Given the description of an element on the screen output the (x, y) to click on. 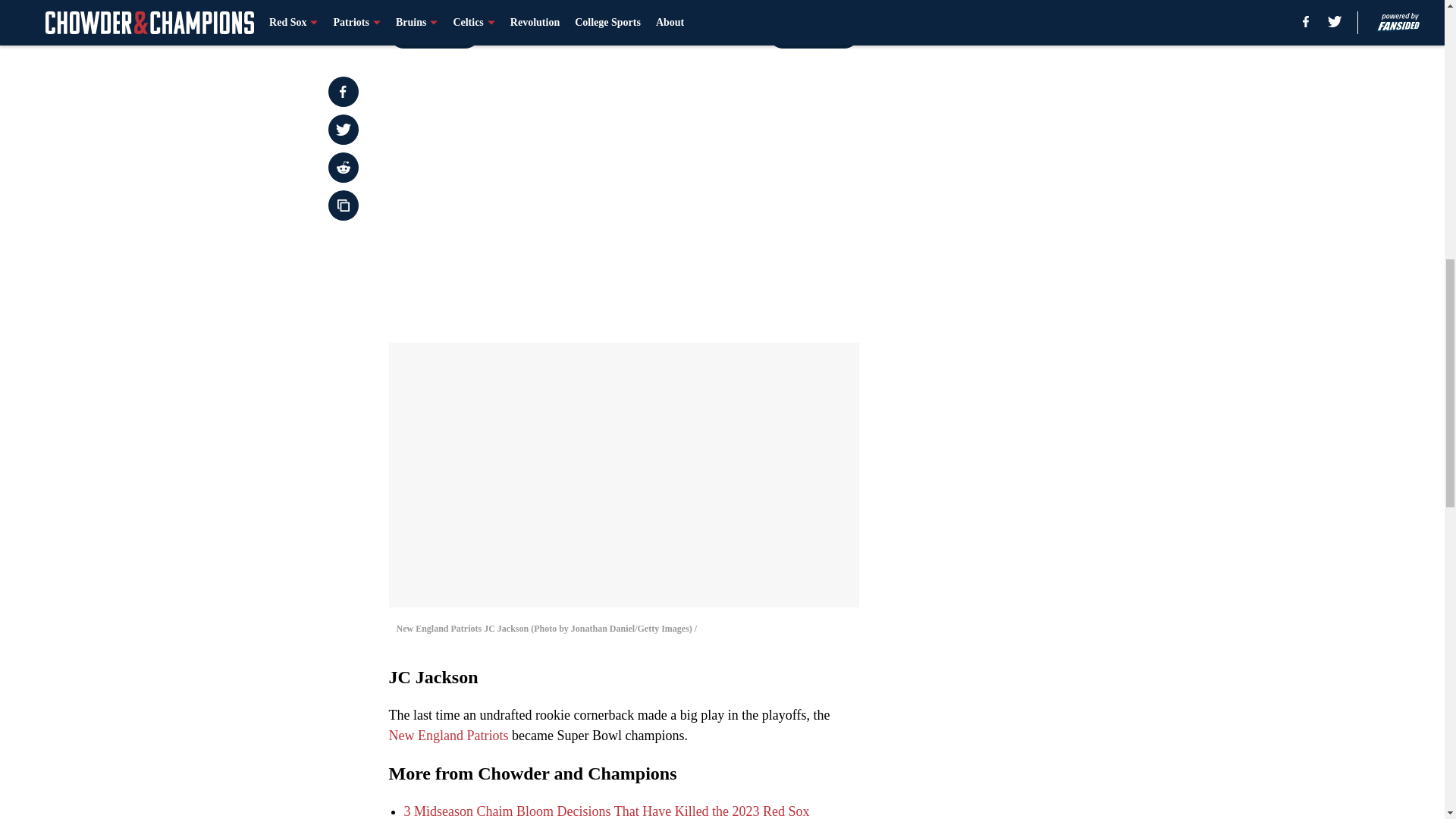
New England Patriots (448, 735)
Prev (433, 33)
Next (813, 33)
